Given the description of an element on the screen output the (x, y) to click on. 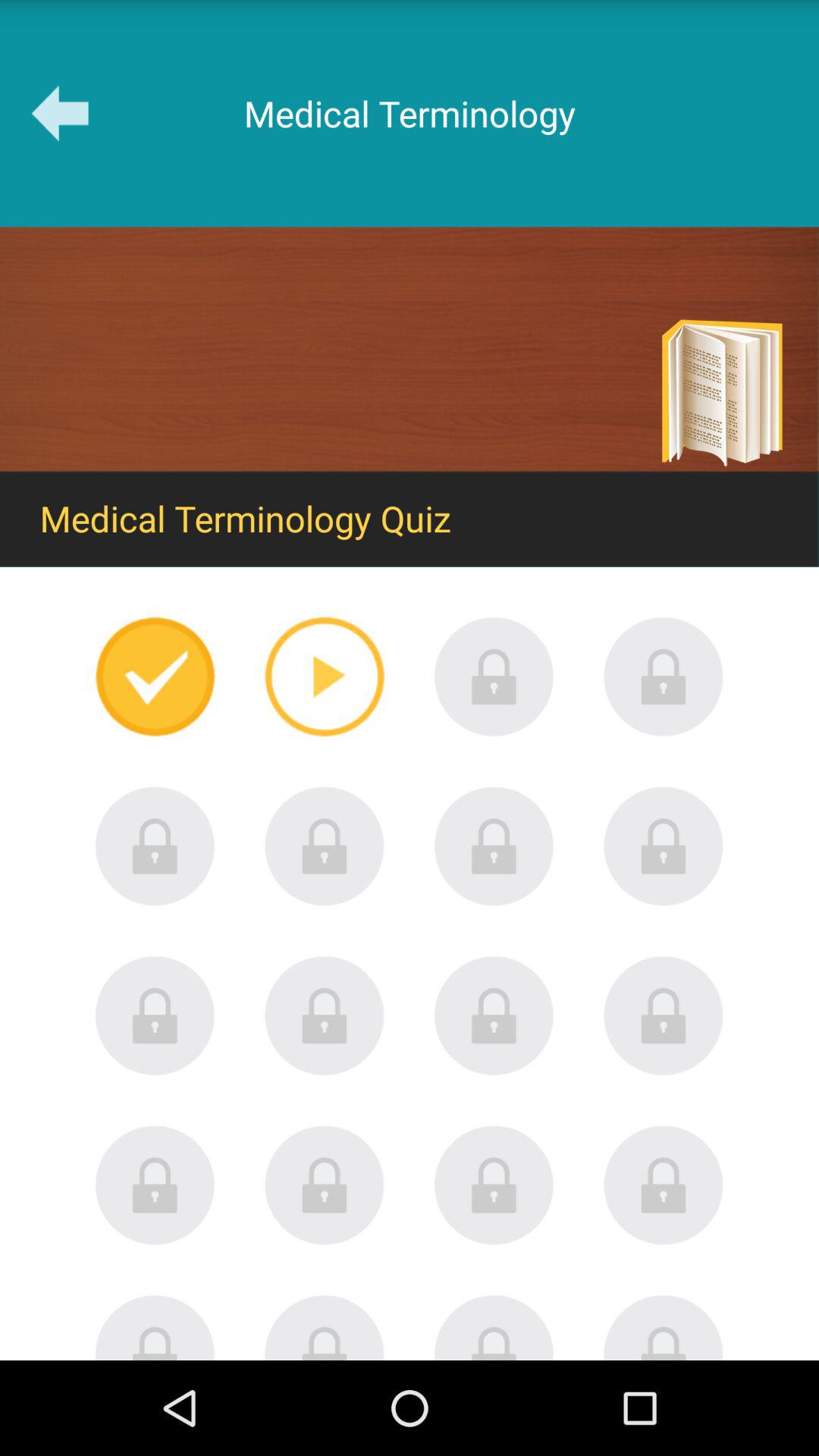
right arrow play button (324, 676)
